Given the description of an element on the screen output the (x, y) to click on. 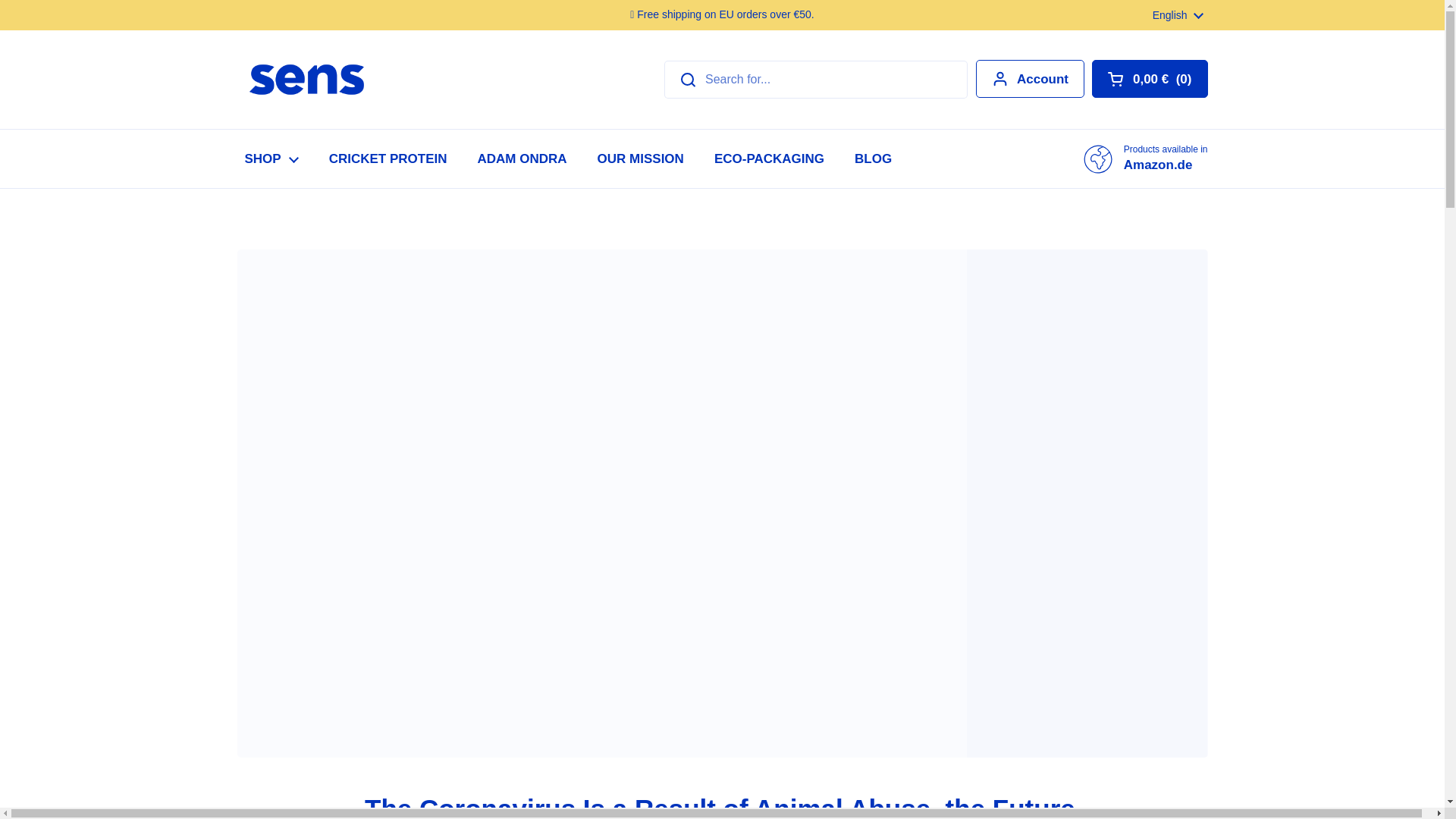
EatSens.com (305, 79)
CRICKET PROTEIN (388, 158)
OUR MISSION (1145, 158)
English (640, 158)
Skip to content (1178, 15)
Open cart (1029, 78)
ADAM ONDRA (1150, 78)
ECO-PACKAGING (522, 158)
